Given the description of an element on the screen output the (x, y) to click on. 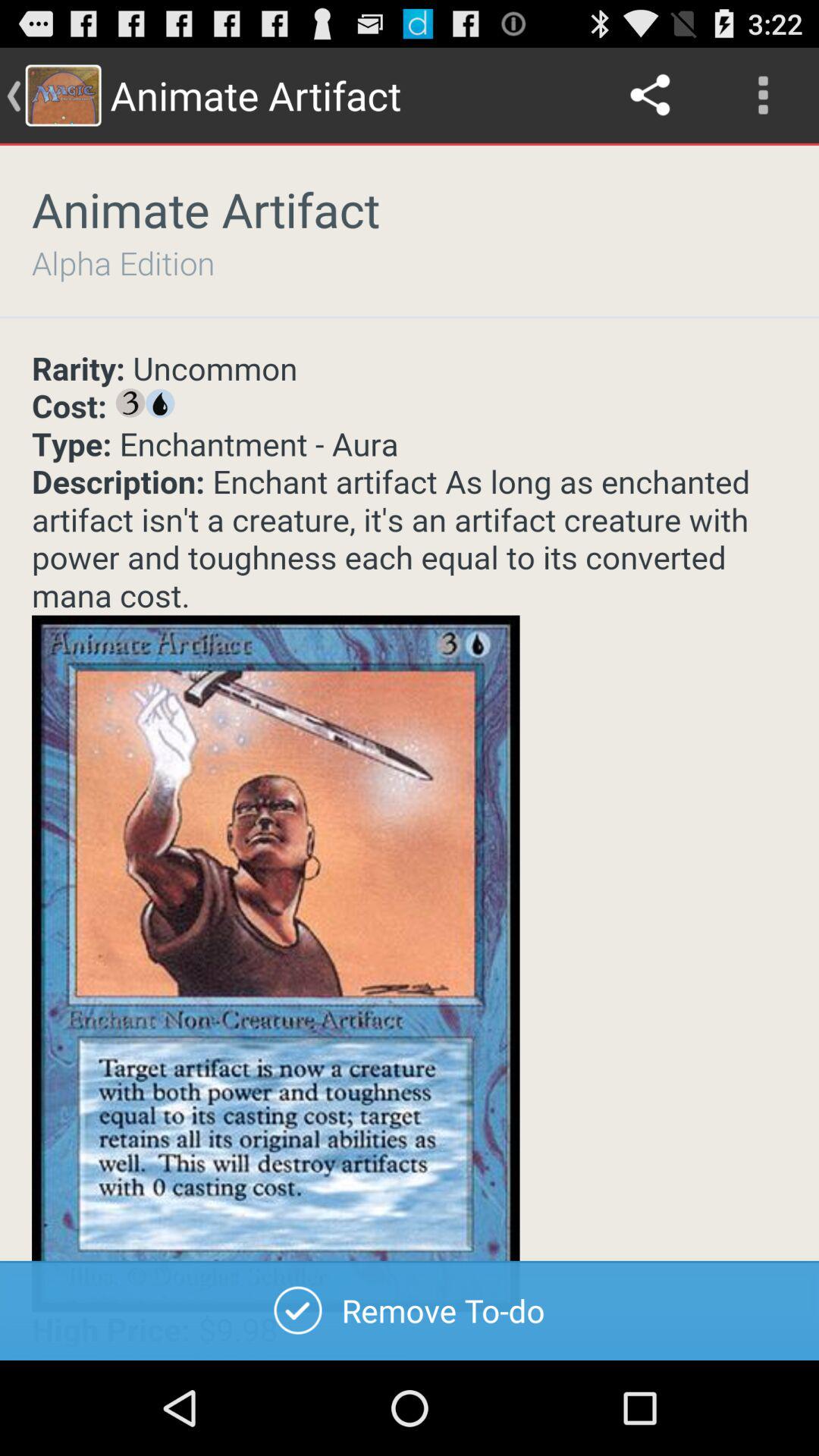
select item to the right of the animate artifact icon (651, 95)
